Given the description of an element on the screen output the (x, y) to click on. 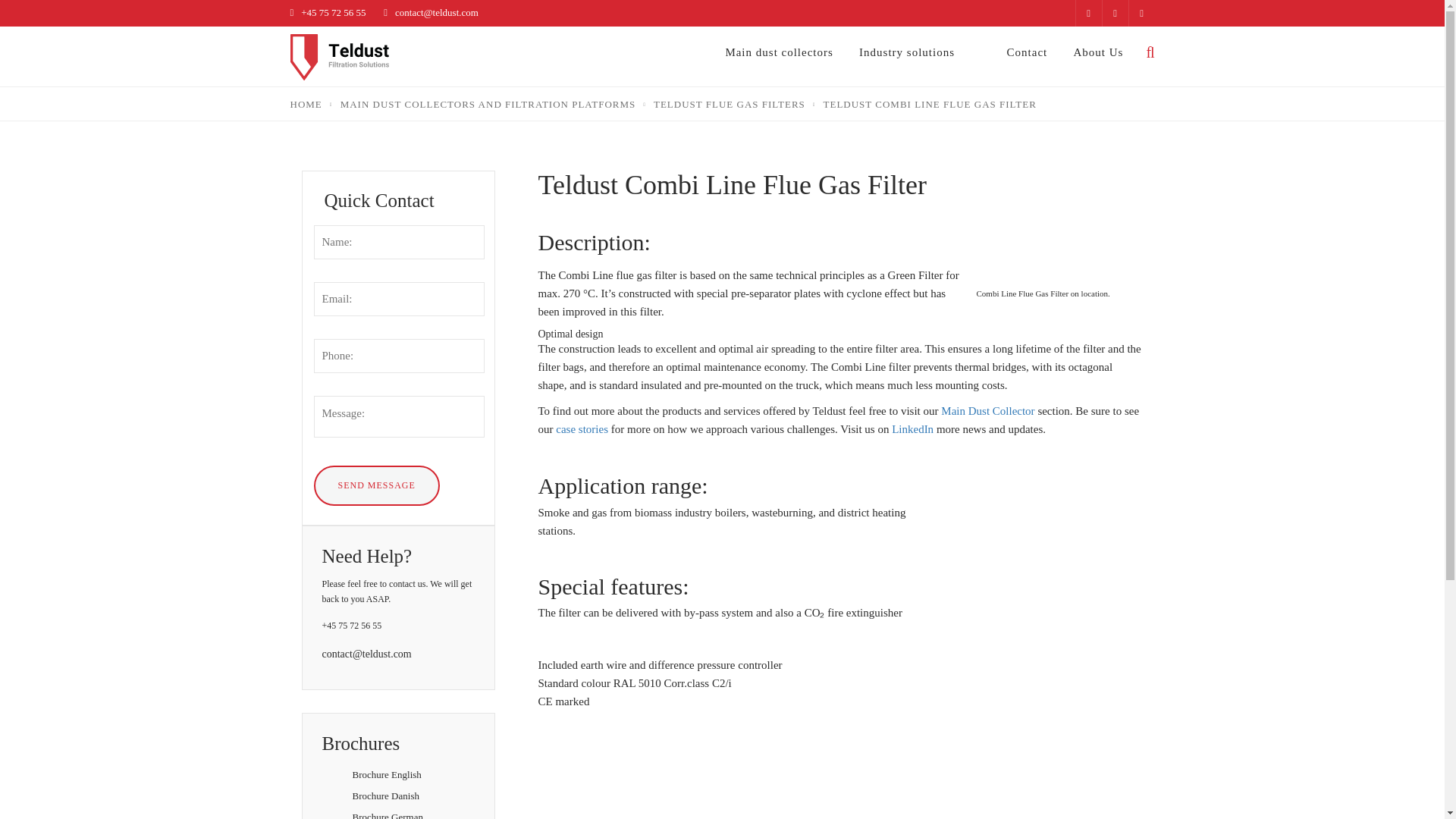
Brochure English (386, 774)
Send Message (376, 486)
Industry solutions (907, 52)
About Us (1097, 52)
LinkedIn (910, 428)
Main Dust Collector (987, 410)
Brochure German (387, 815)
Send Message (376, 486)
Main dust collectors (778, 52)
TELDUST FLUE GAS FILTERS (729, 103)
MAIN DUST COLLECTORS AND FILTRATION PLATFORMS (488, 103)
case stories (580, 428)
HOME (305, 103)
Brochure Danish (385, 795)
